Given the description of an element on the screen output the (x, y) to click on. 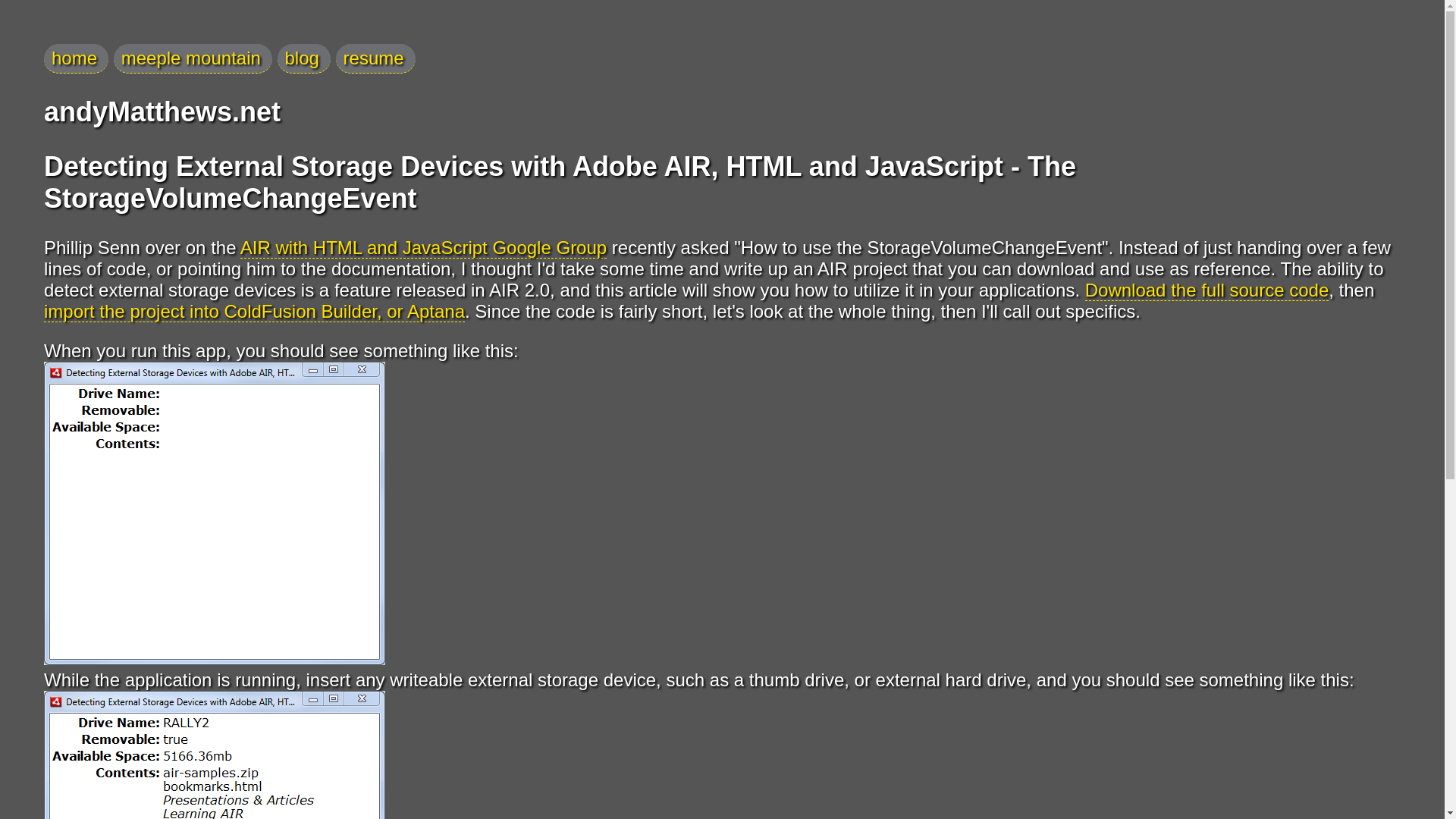
my resume: my professional life (375, 58)
AIR with HTML and JavaScript Google Group (423, 247)
Read past technical articles (304, 58)
like board gaming? Check out my website meeple mountain (192, 58)
Download the full source code (1206, 290)
home (75, 58)
blog (304, 58)
resume (375, 58)
Home (75, 58)
import the project into ColdFusion Builder, or Aptana (253, 311)
meeple mountain (192, 58)
